Given the description of an element on the screen output the (x, y) to click on. 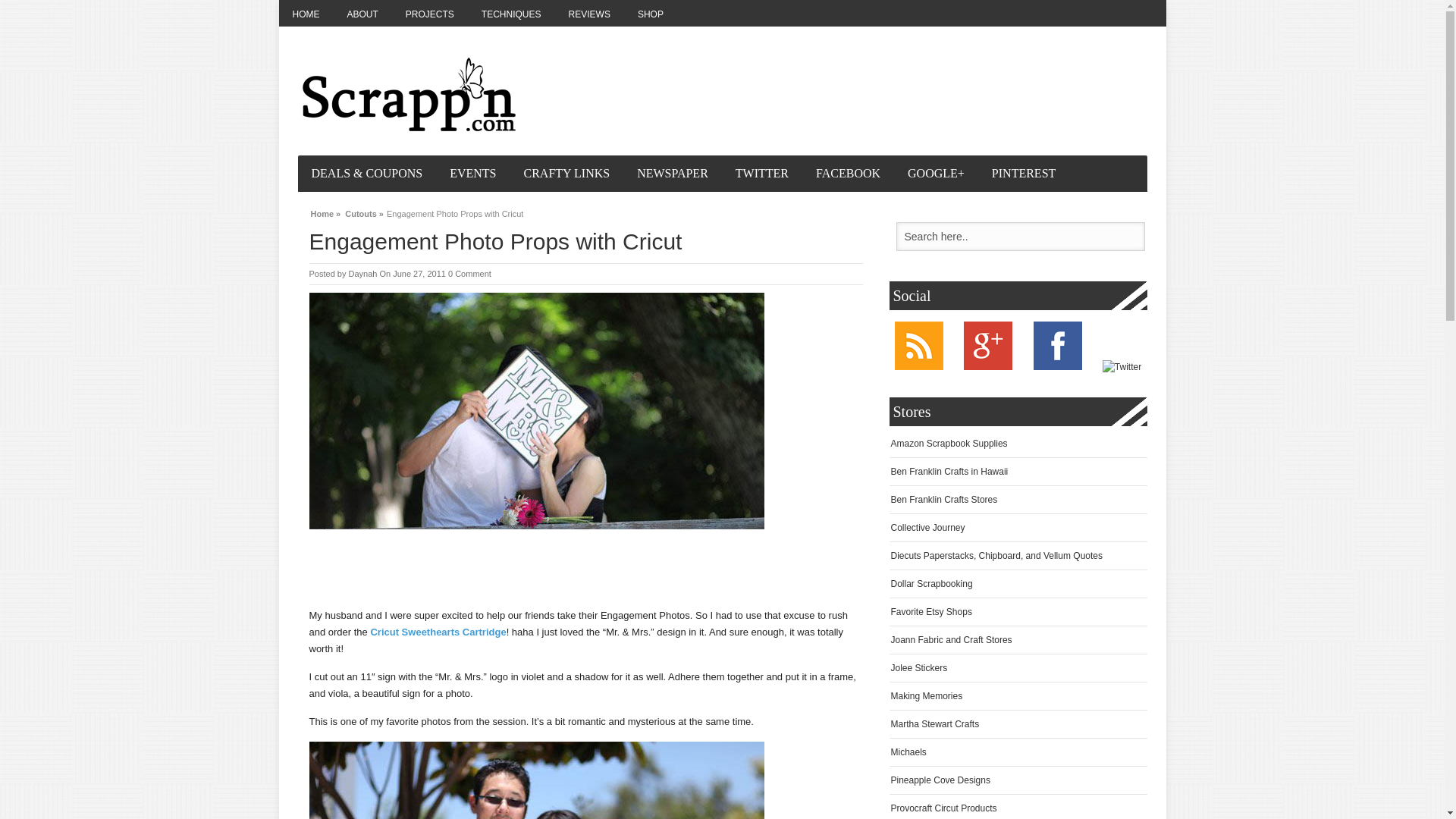
FACEBOOK (847, 173)
Cricut Sweethearts Cartridge (437, 632)
PROJECTS (429, 13)
REVIEWS (589, 13)
PINTEREST (1023, 173)
TECHNIQUES (510, 13)
Twitter (1121, 366)
Facebook (1056, 366)
Scrapp'n (408, 94)
Daynah (362, 273)
0 Comment (470, 273)
CRAFTY LINKS (567, 173)
Search here.. (1020, 235)
ABOUT (362, 13)
Love (536, 780)
